Given the description of an element on the screen output the (x, y) to click on. 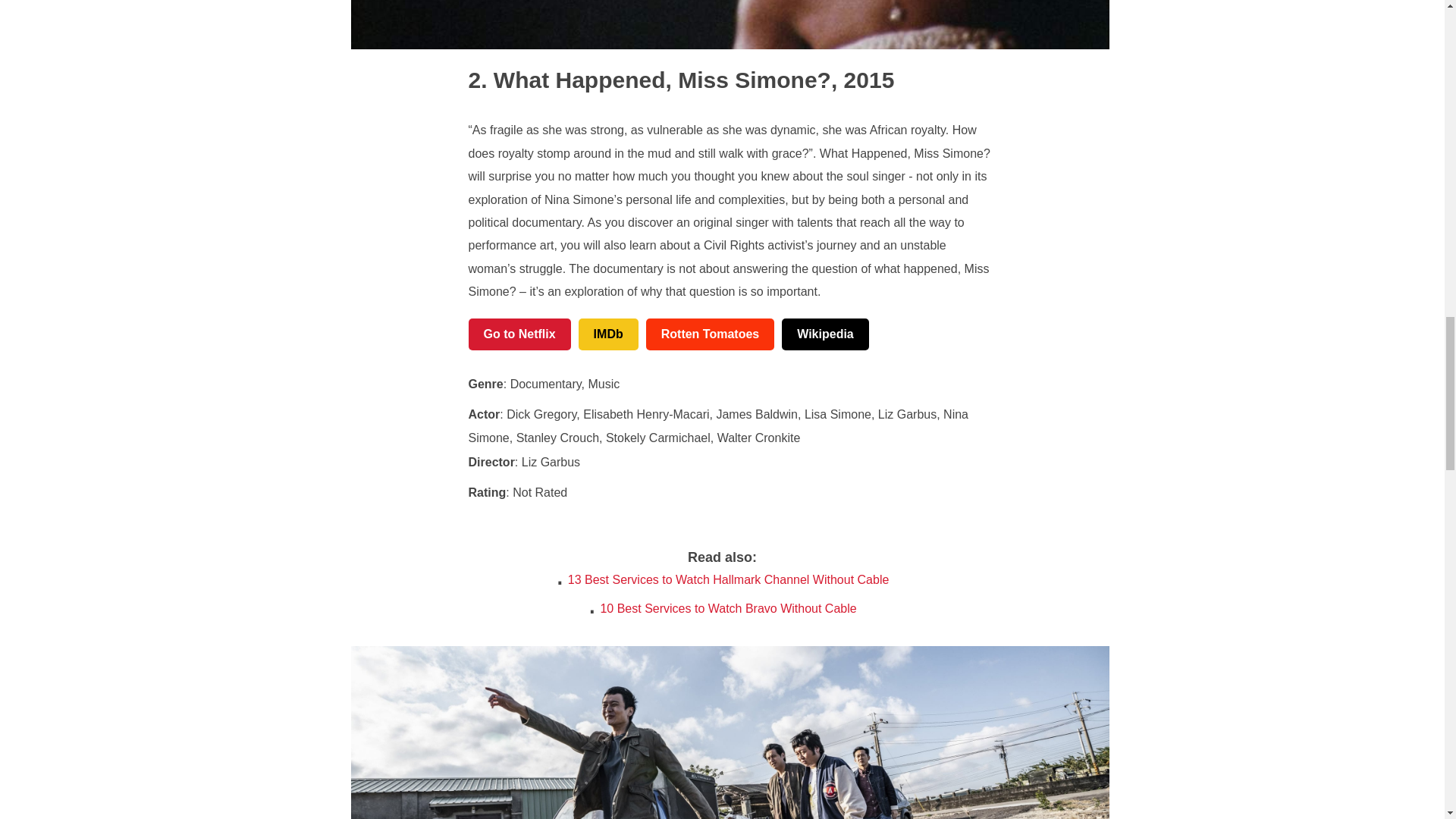
What Happened, Miss Simone? (649, 79)
